Given the description of an element on the screen output the (x, y) to click on. 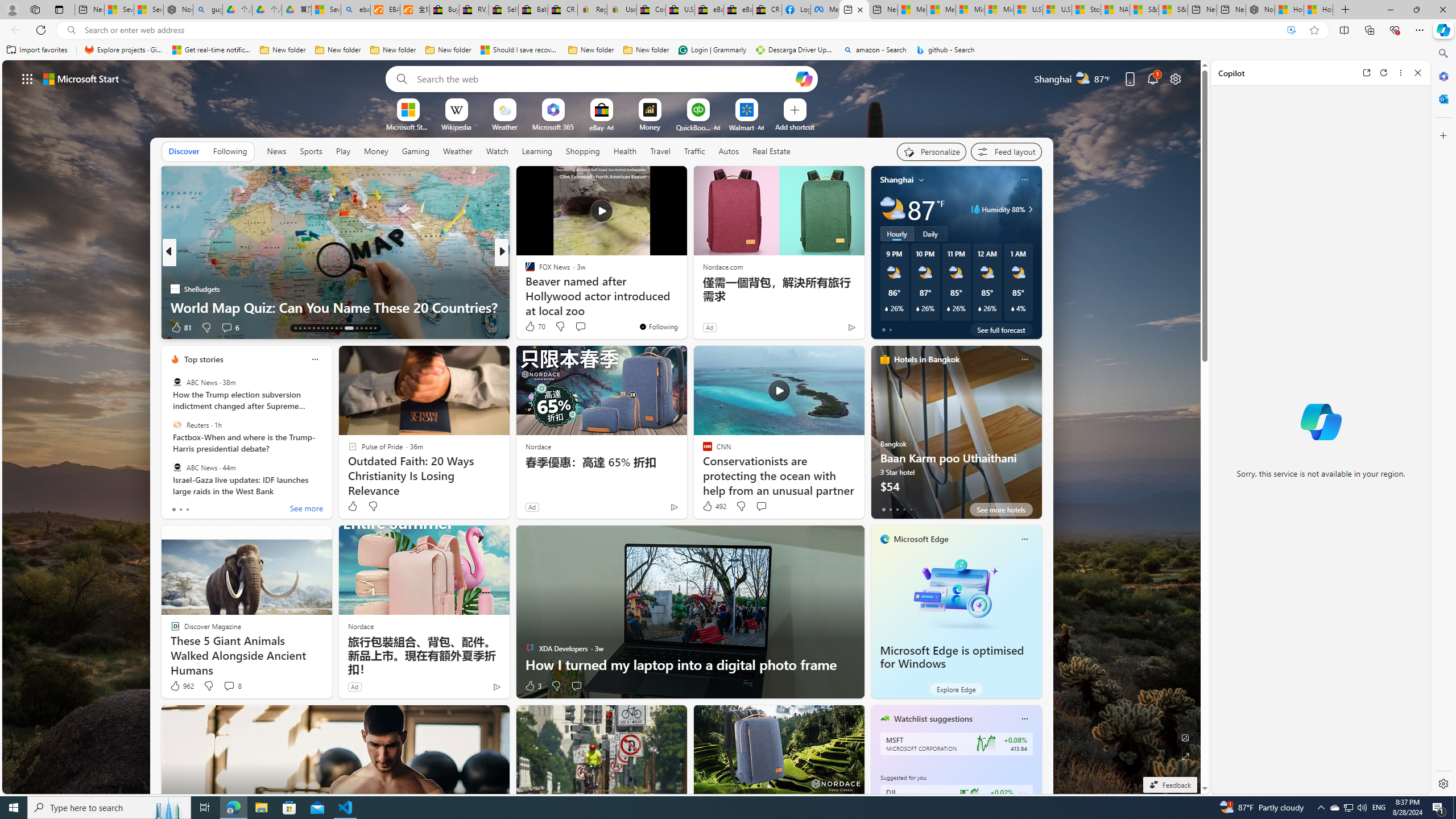
Play (342, 151)
Baan Karm poo Uthaithani (956, 436)
Money (376, 151)
Start the conversation (576, 685)
Gaming (415, 151)
View comments 8 Comment (232, 685)
Hide this story (652, 179)
AutomationID: backgroundImagePicture (601, 426)
AutomationID: tab-34 (370, 328)
Settings (1442, 783)
Partly cloudy (892, 208)
tab-1 (889, 509)
View comments 24 Comment (580, 327)
